Given the description of an element on the screen output the (x, y) to click on. 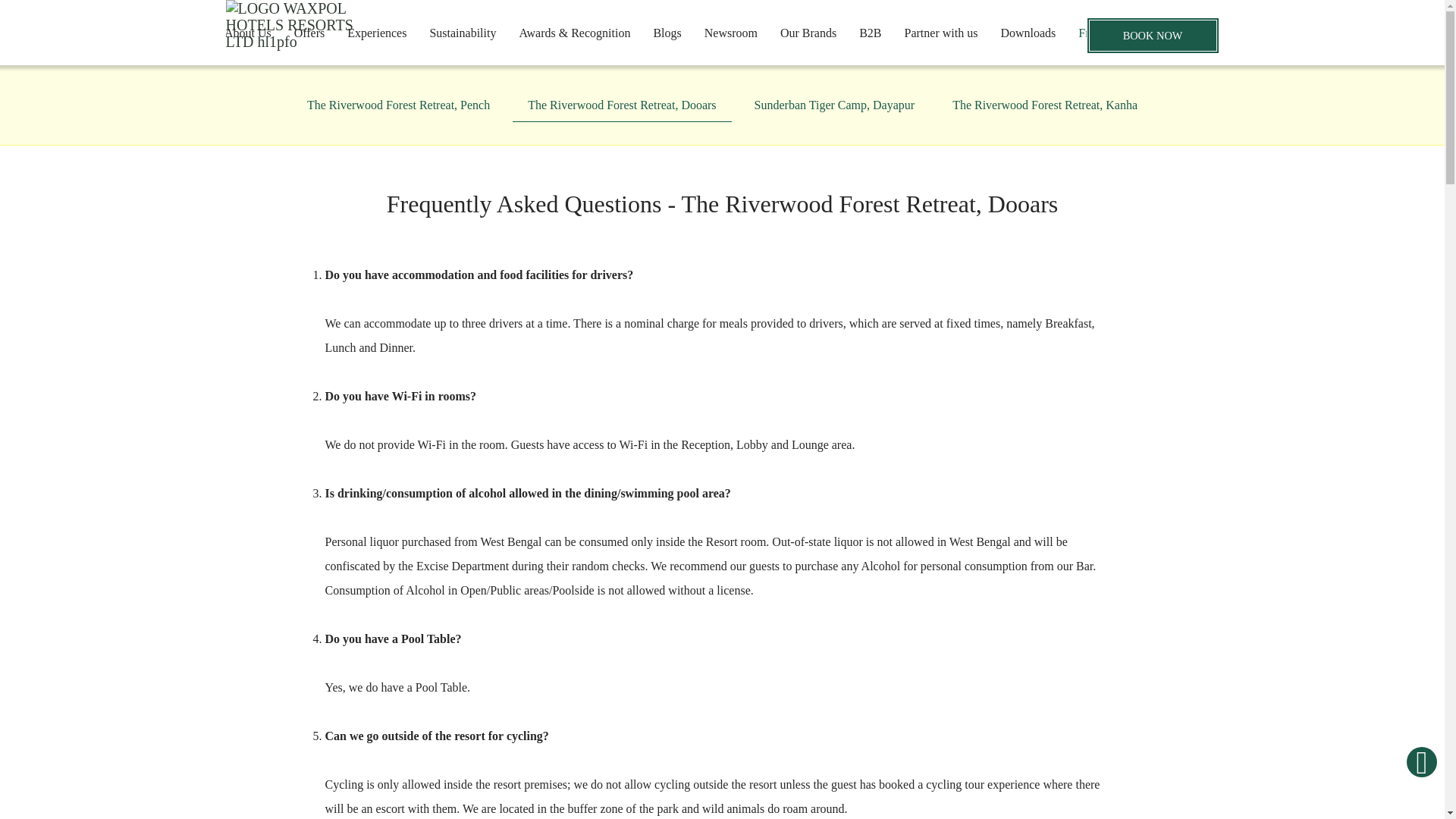
About Us (247, 32)
Newsroom (730, 32)
The Riverwood Forest Retreat, Pench (398, 105)
Sustainability (461, 32)
Our Brands (807, 32)
The Riverwood Forest Retreat, Kanha (1045, 105)
Downloads (1027, 32)
Sunderban Tiger Camp, Dayapur (834, 105)
Frequently Asked Questions (1147, 32)
BOOK NOW (1152, 35)
